Given the description of an element on the screen output the (x, y) to click on. 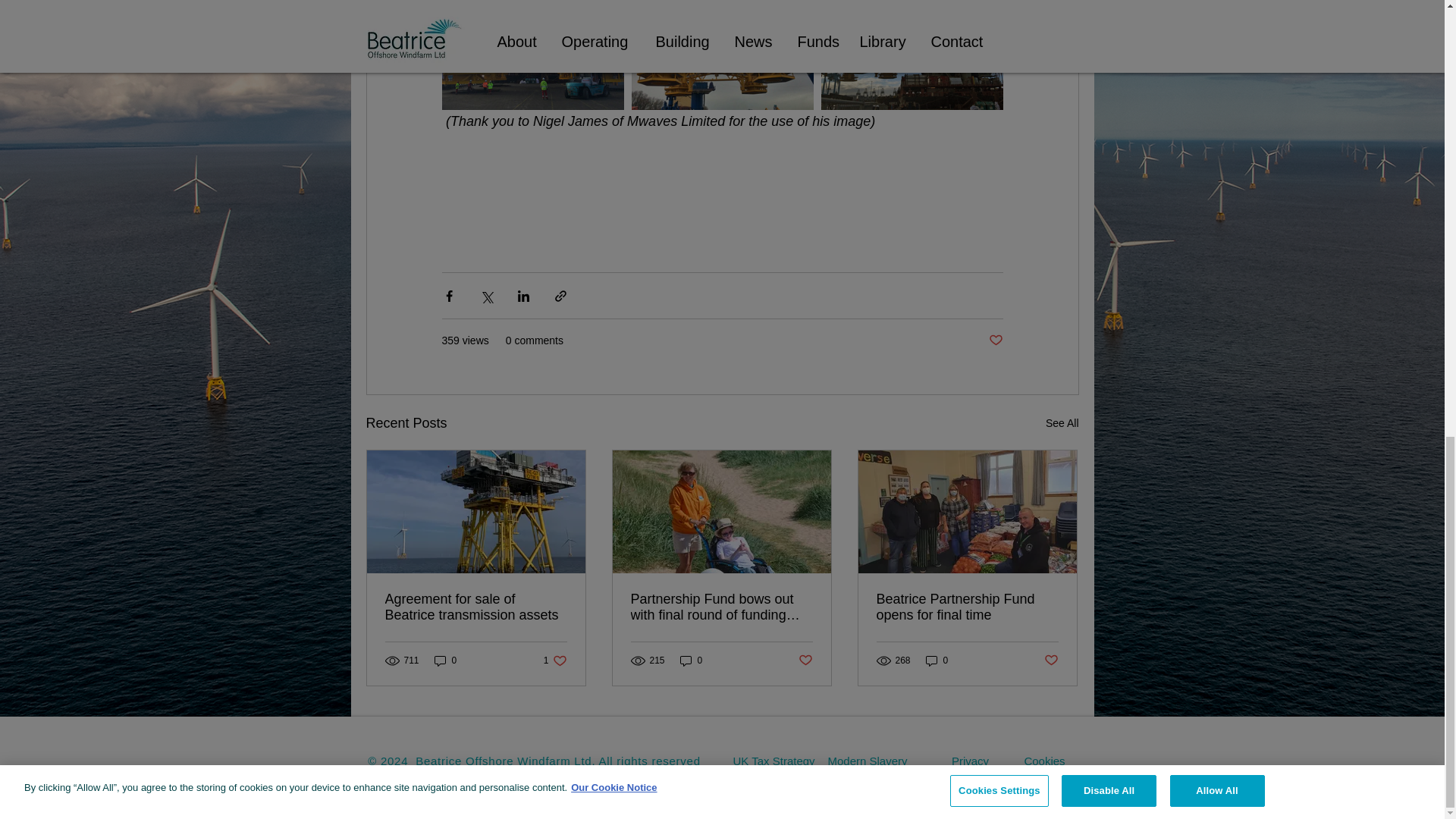
Post not marked as liked (995, 340)
See All (555, 659)
0 (1061, 423)
Post not marked as liked (445, 659)
Agreement for sale of Beatrice transmission assets (804, 660)
0 (476, 607)
